Given the description of an element on the screen output the (x, y) to click on. 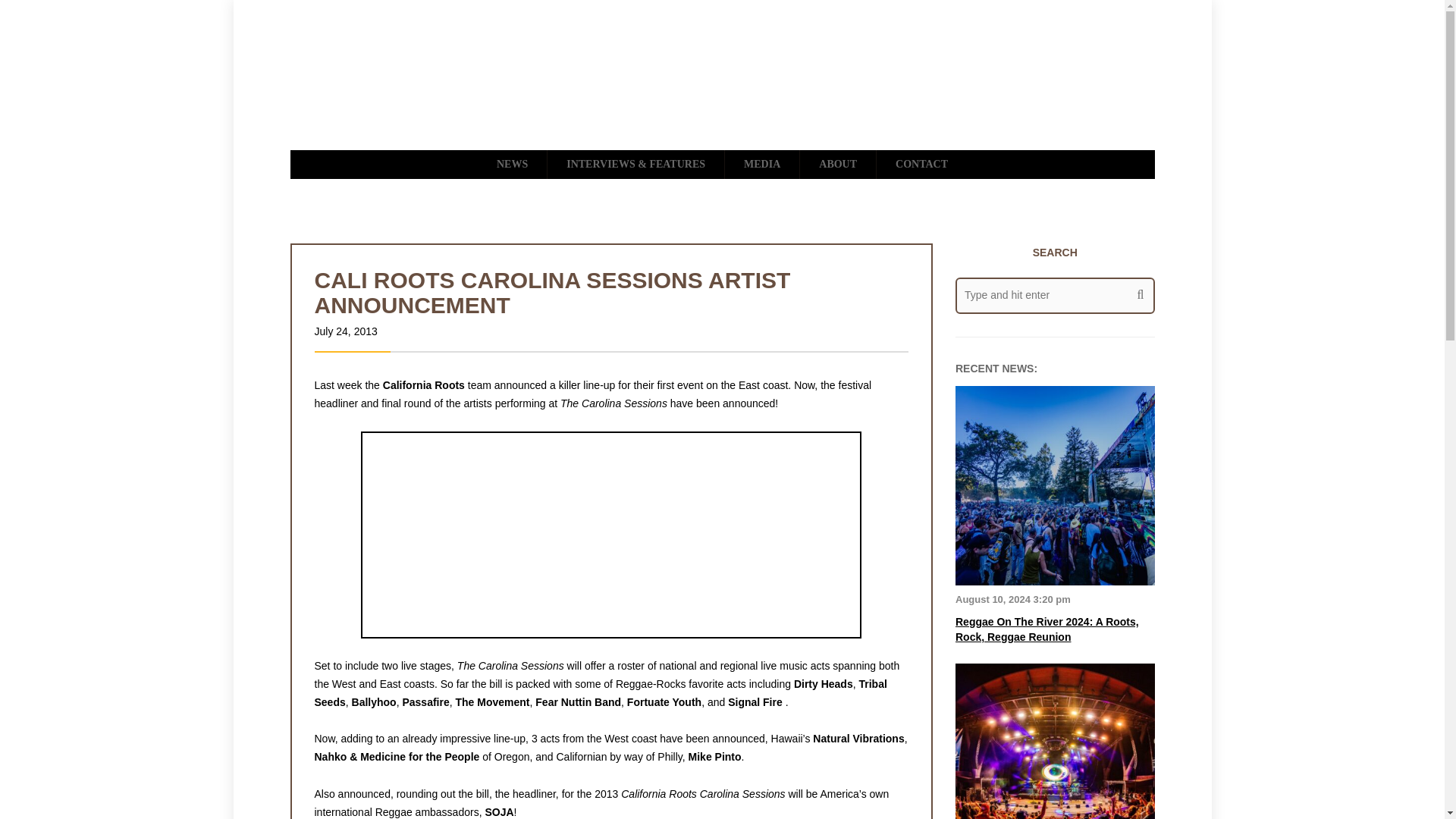
ABOUT (837, 164)
CONTACT (921, 164)
Cali Roots (611, 534)
MEDIA (762, 164)
NEWS (512, 164)
Reggae On The River 2024: A Roots, Rock, Reggae Reunion (1046, 628)
CALI ROOTS CAROLINA SESSIONS ARTIST ANNOUNCEMENT (552, 292)
